Given the description of an element on the screen output the (x, y) to click on. 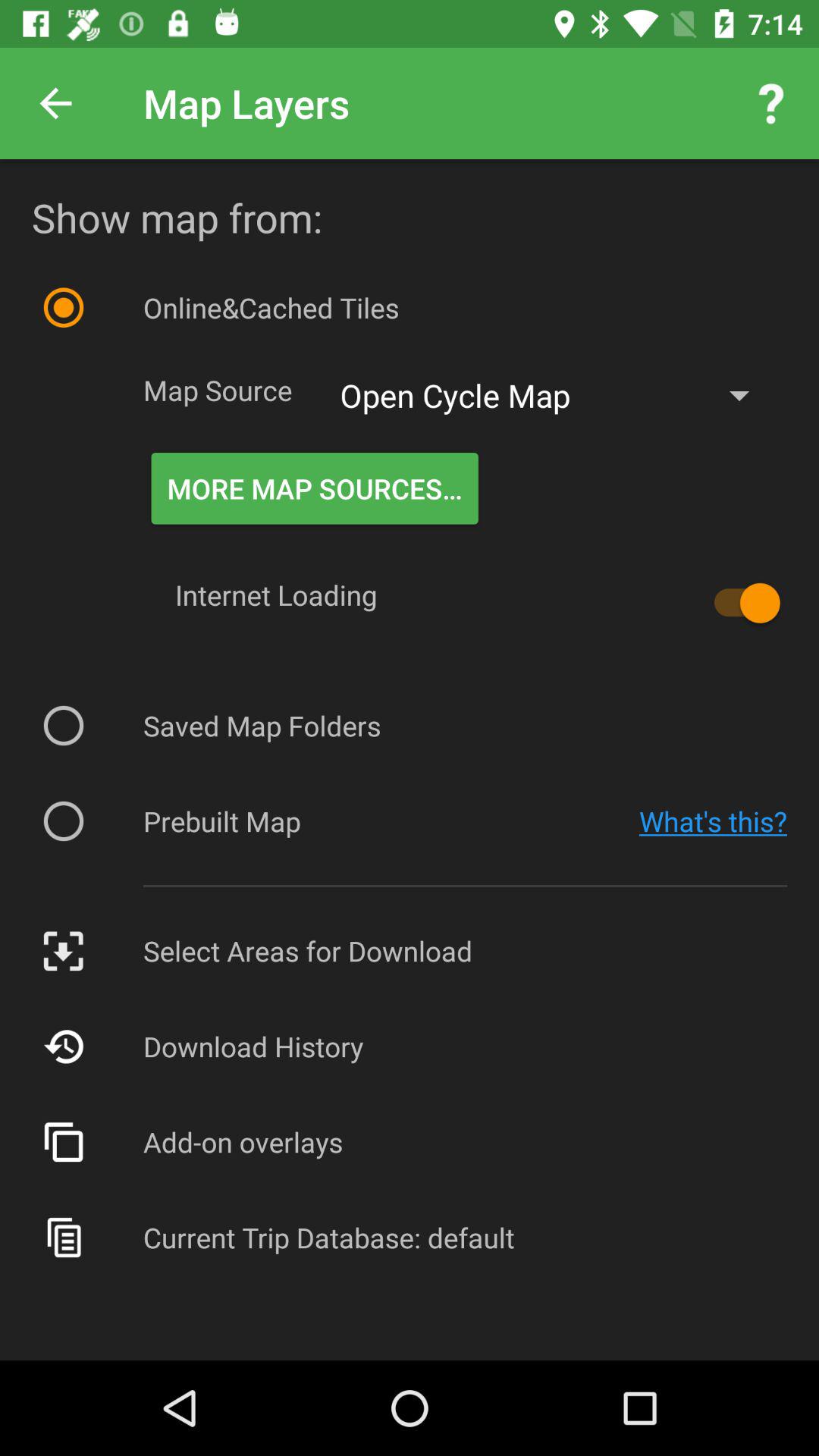
turn off the item next to internet loading icon (739, 603)
